Given the description of an element on the screen output the (x, y) to click on. 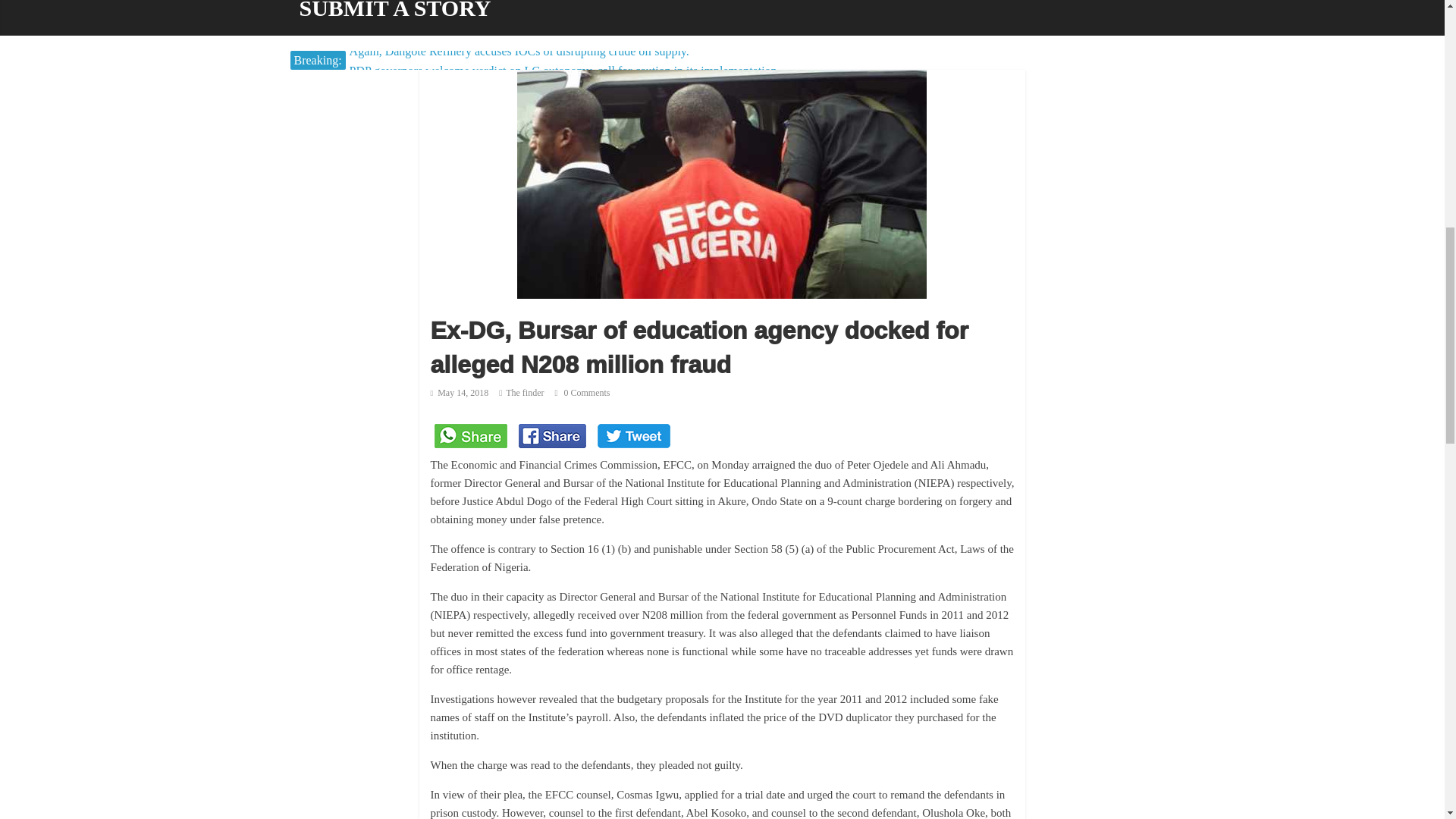
The finder (524, 392)
May 14, 2018 (459, 392)
9:11 pm (459, 392)
SUBMIT A STORY (394, 18)
The finder (524, 392)
0 Comments (582, 392)
